Given the description of an element on the screen output the (x, y) to click on. 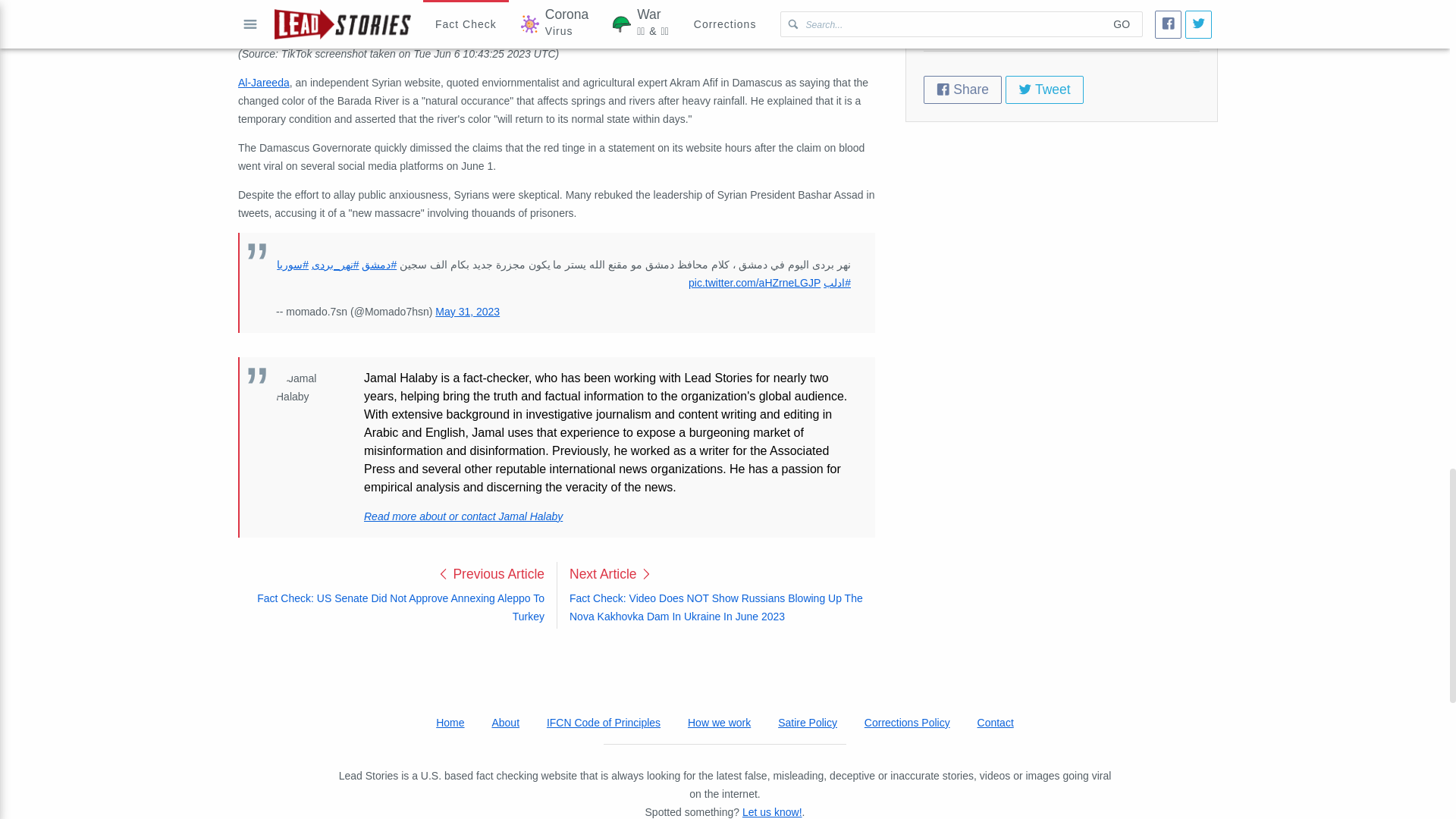
Read more about or contact Jamal Halaby (463, 516)
May 31, 2023 (467, 311)
Al-Jareeda (263, 82)
